Given the description of an element on the screen output the (x, y) to click on. 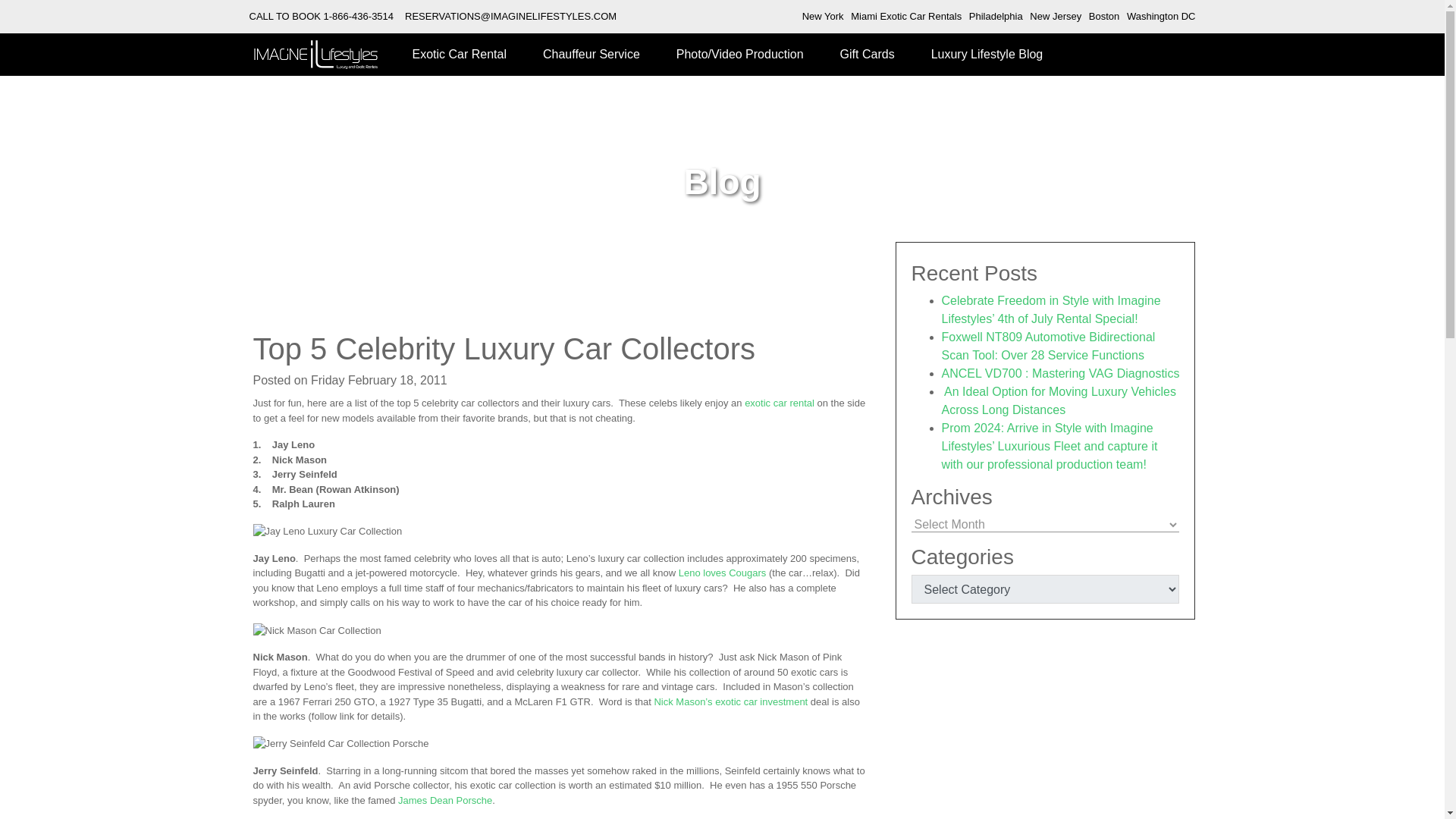
Leno loves Cougars (722, 572)
Miami (905, 16)
Boston (1104, 16)
New Jersey (1055, 16)
Exotic Car Rental (459, 54)
Miami Exotic Car Rentals (905, 16)
New York (823, 16)
Washington DC (1160, 16)
New Jersey (1055, 16)
Philadelphia (996, 16)
exotic car rental (778, 402)
1-866-436-3514 (358, 16)
Washington DC (1160, 16)
James Dean Porsche (444, 799)
Luxury Lifestyle Blog (986, 54)
